Given the description of an element on the screen output the (x, y) to click on. 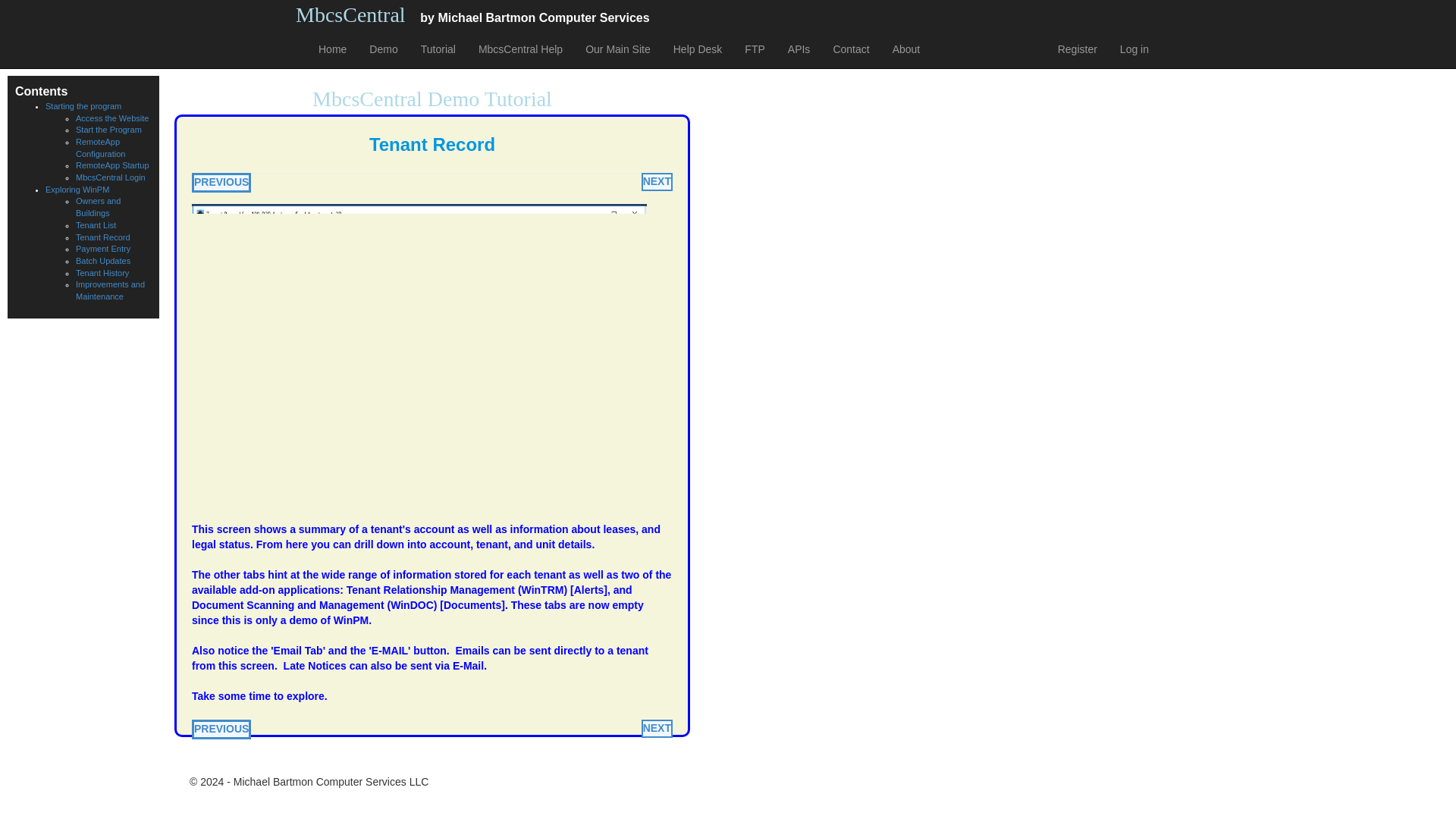
MbcsCentral Login (110, 176)
Start the Program (108, 129)
Payment Entry (103, 248)
Starting the program (82, 105)
Exploring WinPM (77, 189)
NEXT (657, 728)
Batch Updates (103, 260)
RemoteApp Startup (112, 164)
PREVIOUS (221, 729)
APIs (799, 48)
